Given the description of an element on the screen output the (x, y) to click on. 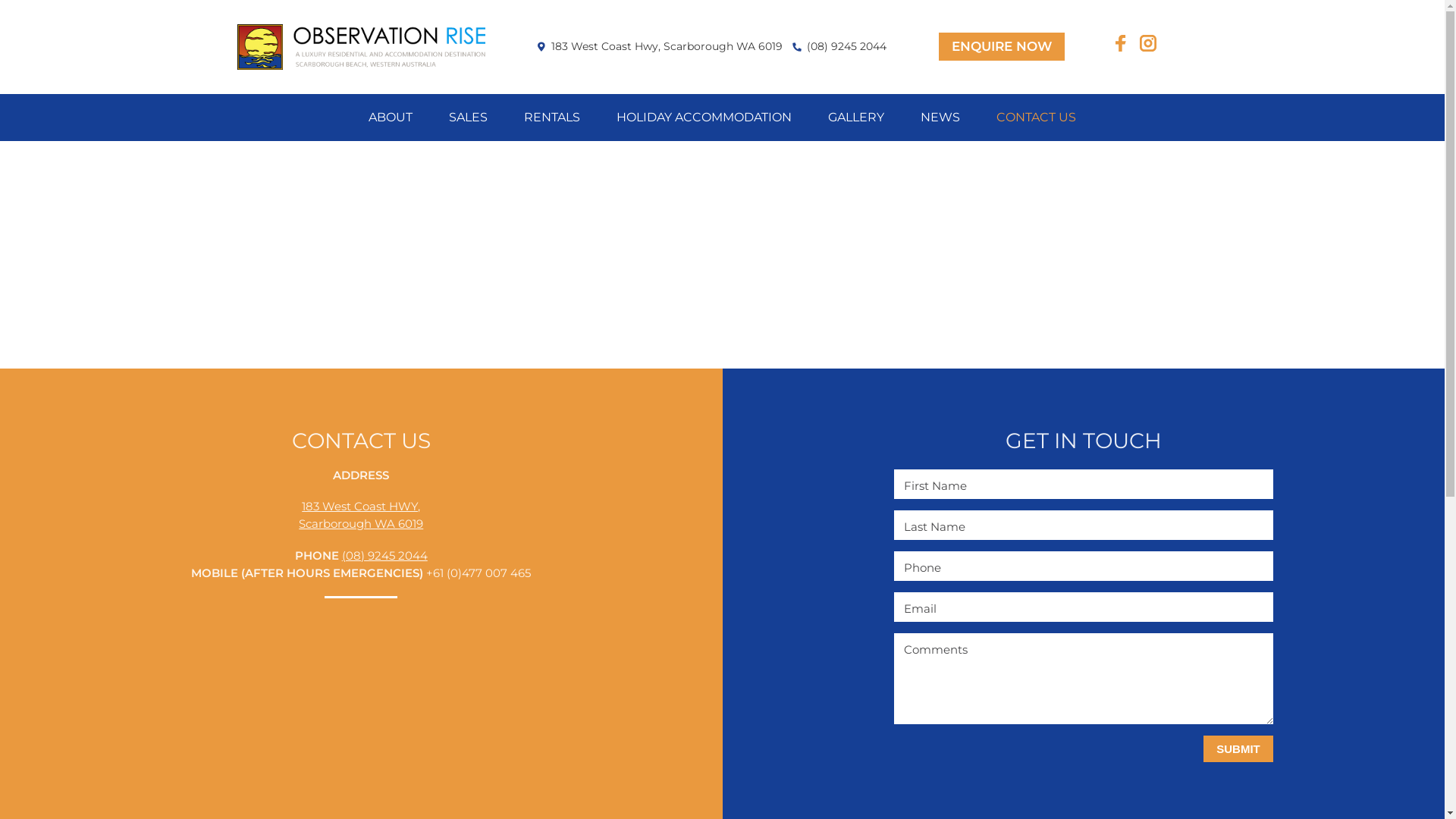
CONTACT US Element type: text (1036, 117)
GALLERY Element type: text (855, 117)
NEWS Element type: text (940, 117)
Submit Element type: text (1238, 748)
SALES Element type: text (467, 117)
HOLIDAY ACCOMMODATION Element type: text (703, 117)
RENTALS Element type: text (551, 117)
(08) 9245 2044 Element type: text (384, 555)
ABOUT Element type: text (390, 117)
ENQUIRE NOW Element type: text (1001, 46)
183 West Coast HWY,
Scarborough WA 6019 Element type: text (360, 514)
